Given the description of an element on the screen output the (x, y) to click on. 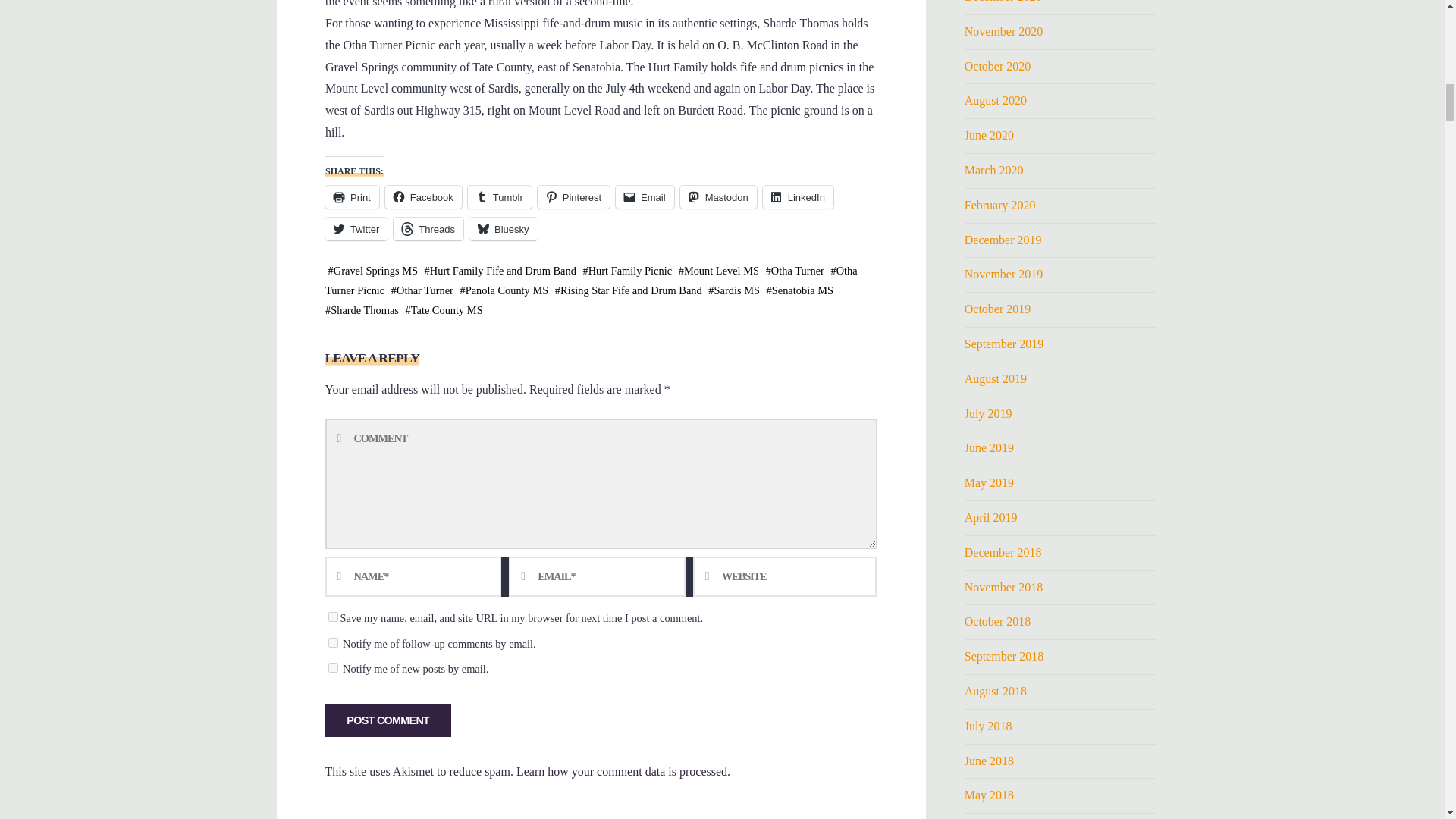
Click to email a link to a friend (644, 196)
subscribe (332, 667)
subscribe (332, 642)
Click to share on Facebook (422, 196)
Click to print (351, 196)
yes (332, 616)
Post Comment (386, 720)
Click to share on Tumblr (499, 196)
Click to share on Mastodon (717, 196)
Click to share on LinkedIn (796, 196)
